Given the description of an element on the screen output the (x, y) to click on. 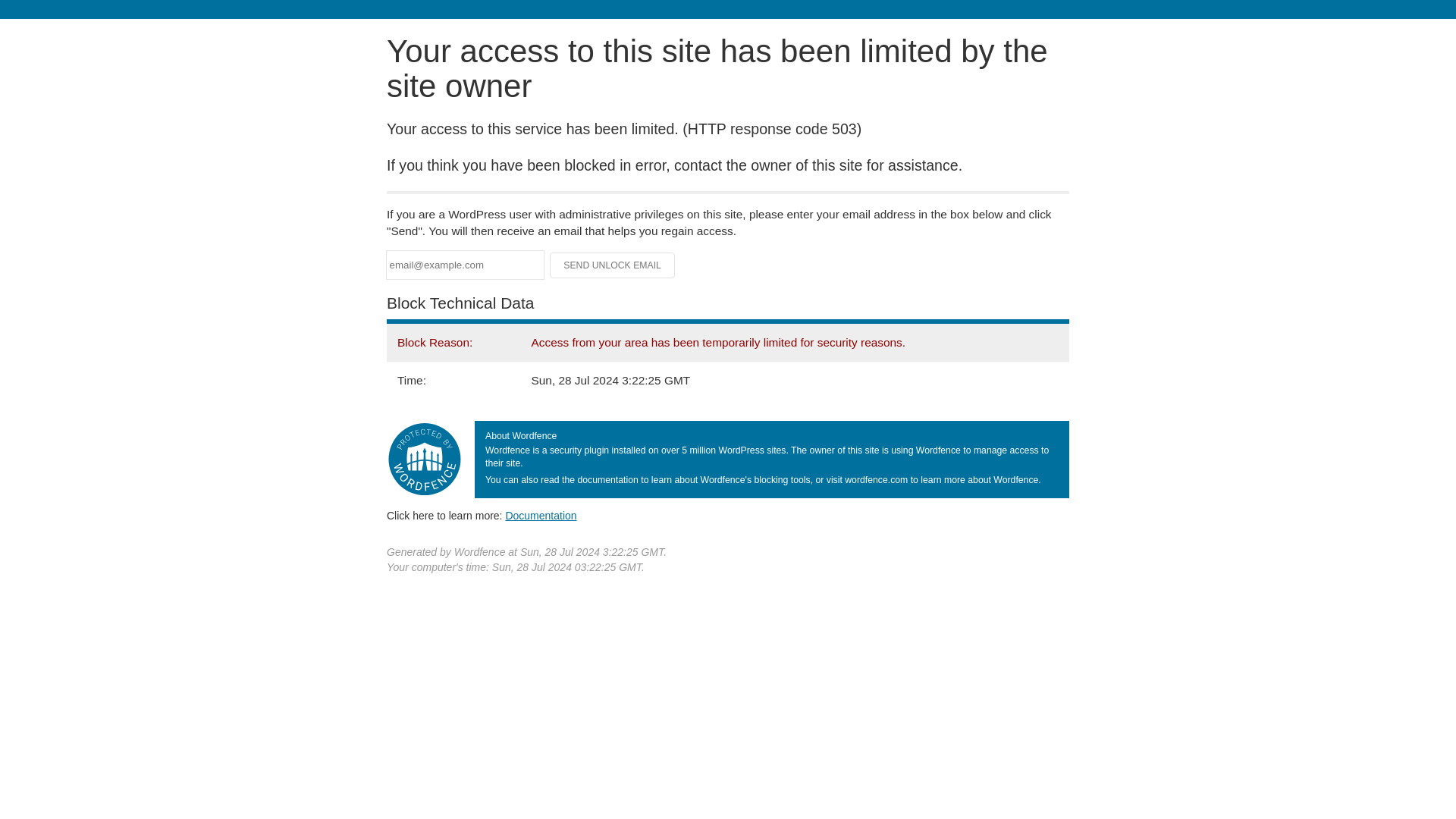
Send Unlock Email (612, 265)
Send Unlock Email (612, 265)
Documentation (540, 515)
